Given the description of an element on the screen output the (x, y) to click on. 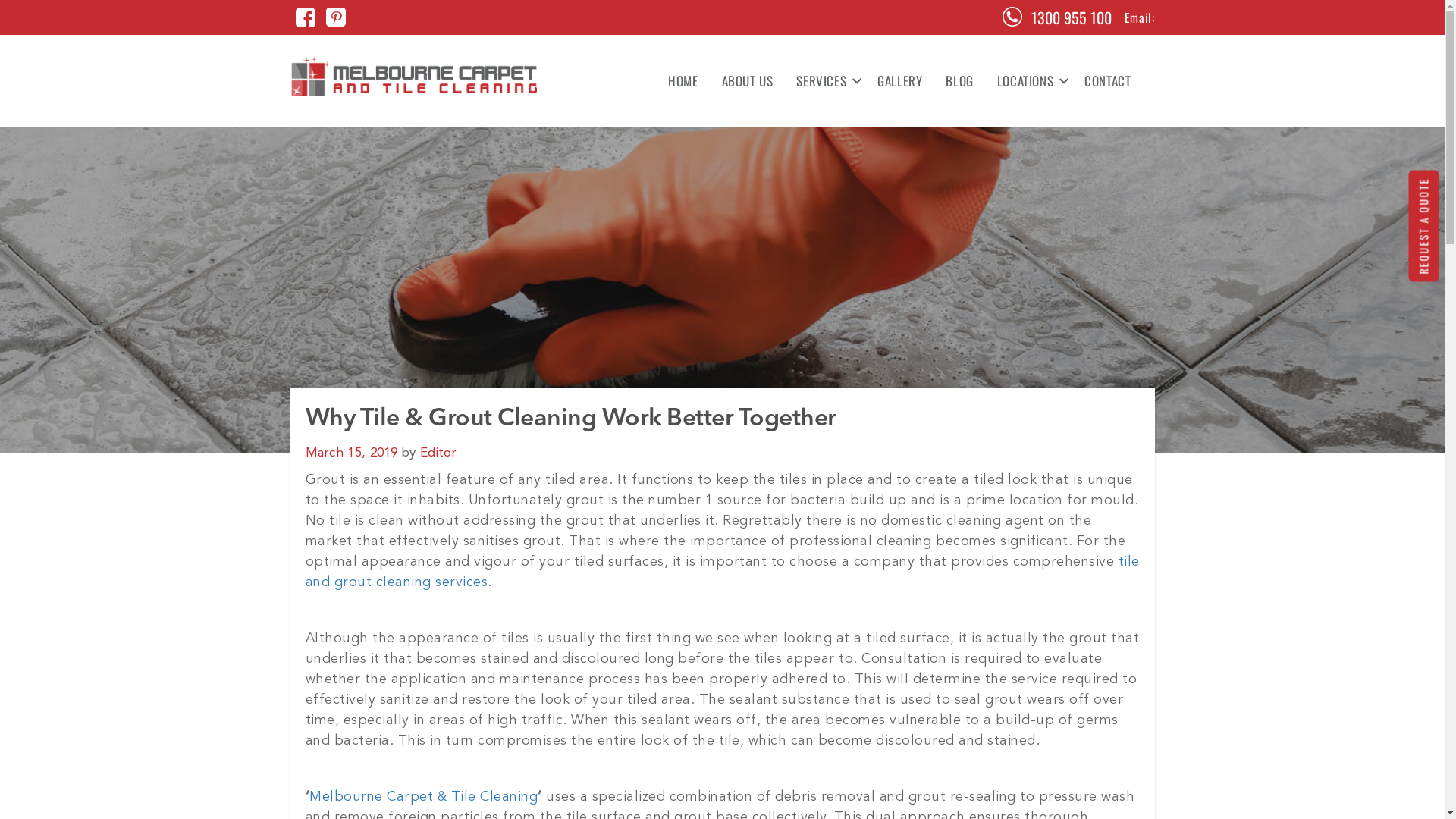
HOME Element type: text (682, 80)
1300 955 100 Element type: text (1071, 17)
ABOUT US Element type: text (747, 80)
CONTACT Element type: text (1101, 80)
GALLERY Element type: text (899, 80)
Melbourne Carpet And Tile Cleaning Element type: hover (413, 76)
Melbourne Carpet & Tile Cleaning Element type: text (423, 796)
Editor Element type: text (438, 452)
SERVICES Element type: text (824, 80)
tile and grout cleaning services Element type: text (721, 572)
March 15, 2019 Element type: text (350, 452)
LOCATIONS Element type: text (1028, 80)
BLOG Element type: text (959, 80)
